Given the description of an element on the screen output the (x, y) to click on. 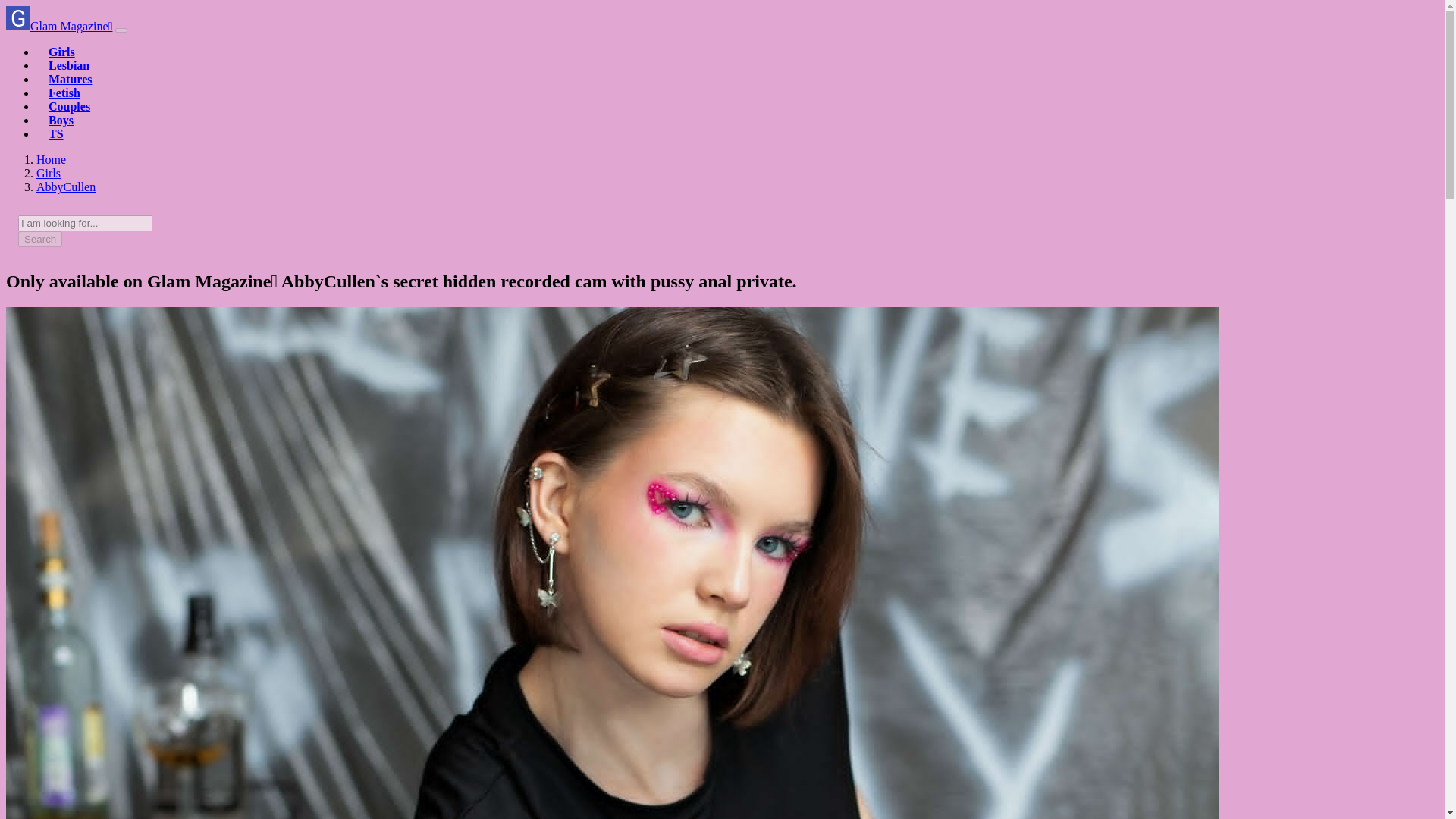
Matures (69, 78)
Lesbian (68, 65)
TS (56, 133)
Boys (61, 119)
Home (50, 159)
Girls (48, 173)
Search (39, 238)
Girls (48, 173)
Couples (69, 106)
Fetish (64, 92)
Fetish (64, 92)
Couples (69, 106)
AbbyCullen (66, 186)
TS (56, 133)
Girls (61, 51)
